Given the description of an element on the screen output the (x, y) to click on. 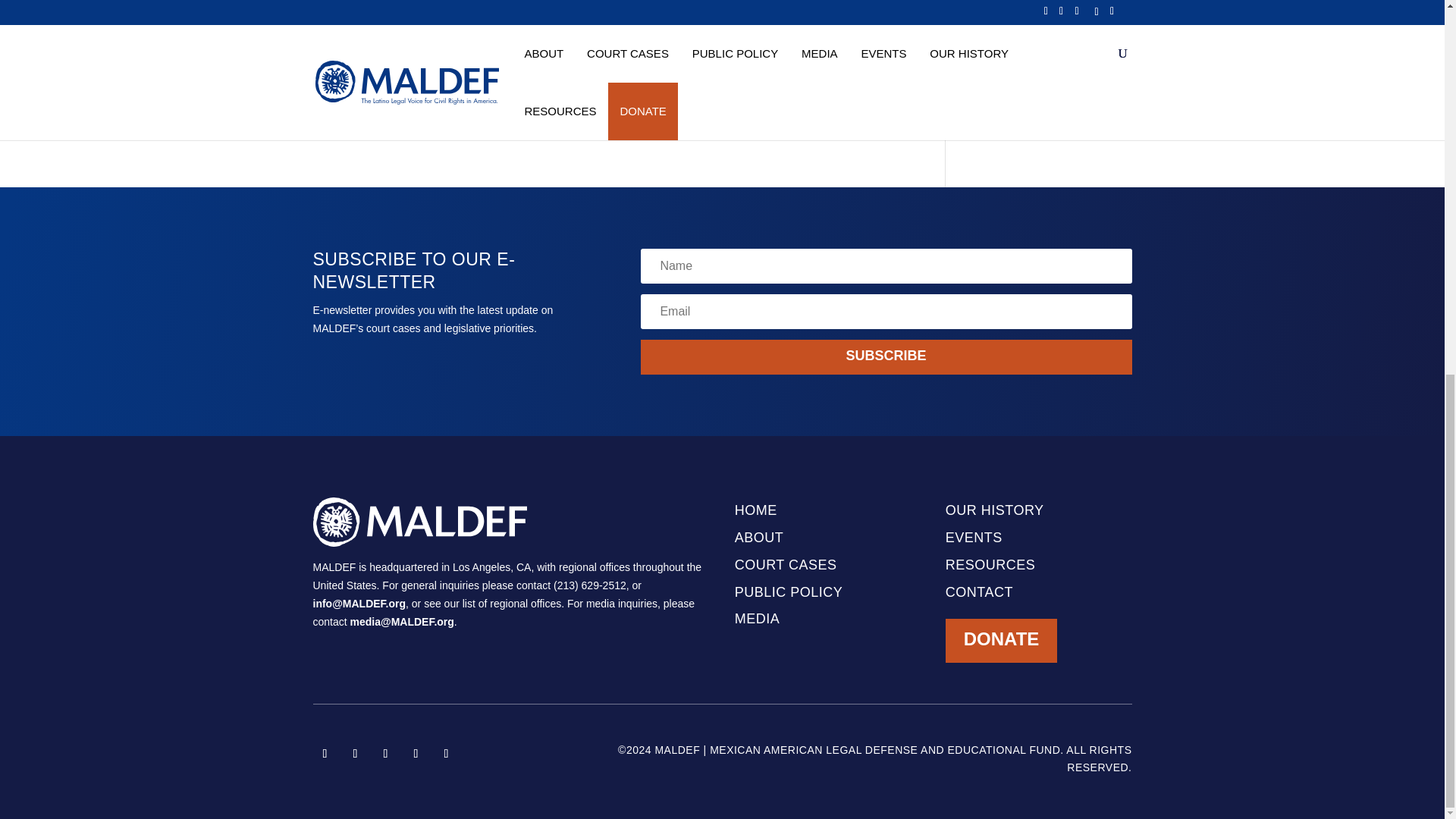
Follow on Youtube (445, 753)
Email (627, 81)
Follow on Instagram (384, 753)
Facebook (579, 81)
Follow on TikTok (415, 753)
Follow on X (354, 753)
X (603, 81)
Follow on Facebook (324, 753)
MALDEF-white-logo (419, 522)
